Given the description of an element on the screen output the (x, y) to click on. 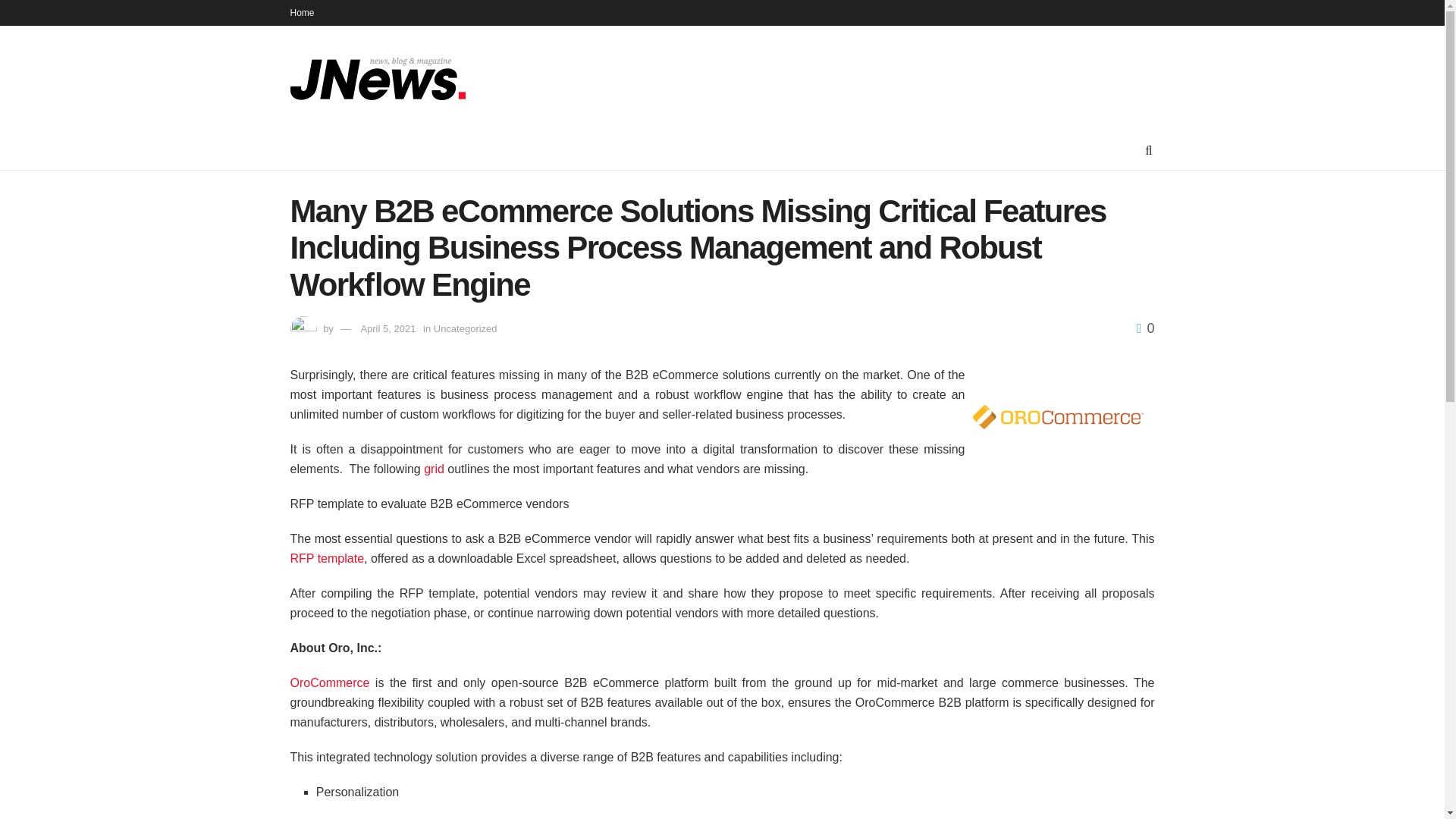
Home (301, 12)
OroCommerce (329, 682)
grid (433, 468)
0 (1145, 328)
April 5, 2021 (386, 328)
RFP template (326, 558)
